Given the description of an element on the screen output the (x, y) to click on. 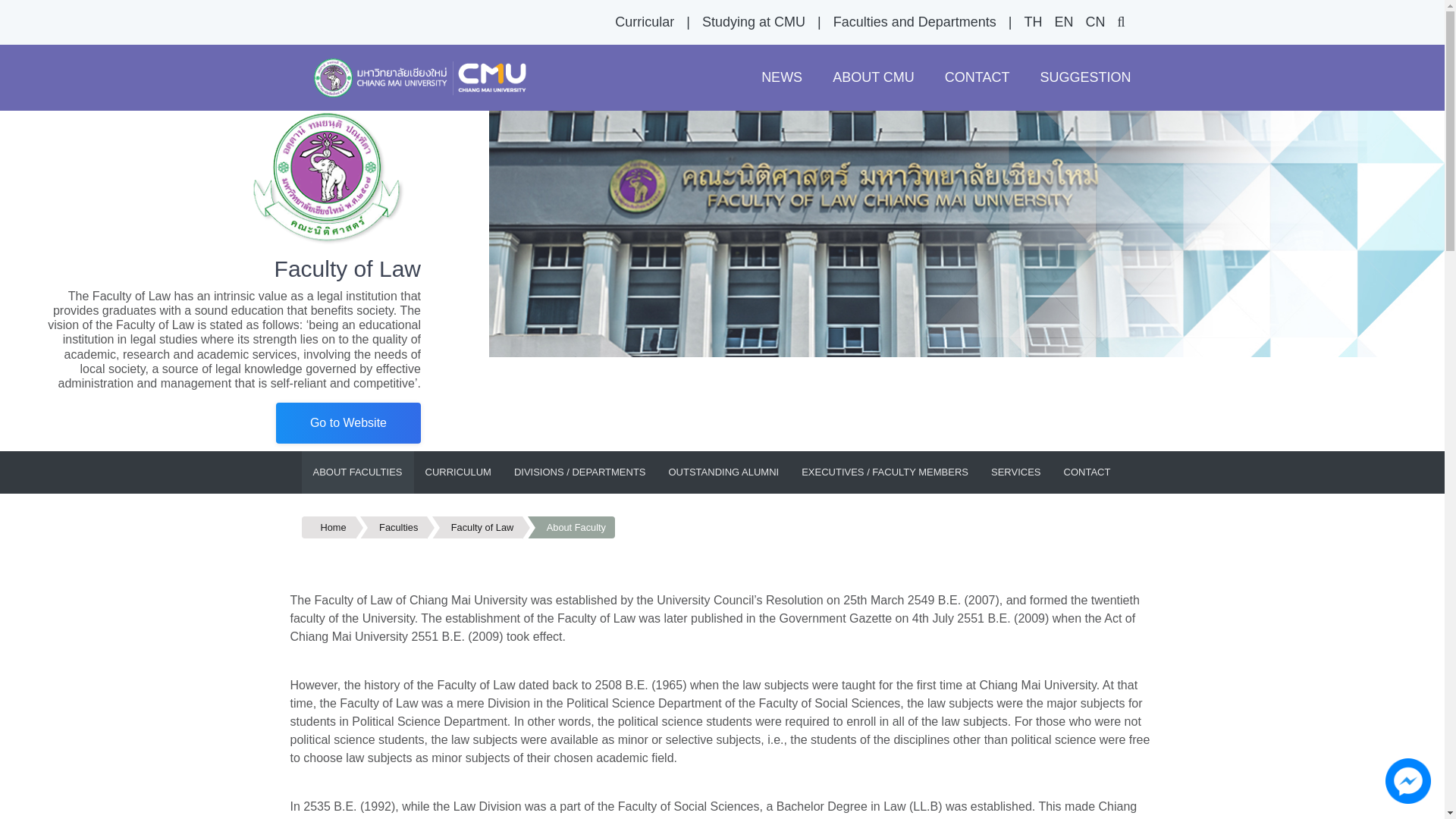
TH (1032, 21)
Studying at CMU (752, 21)
EN (1063, 21)
Faculties and Departments (915, 21)
CN (1094, 21)
Curricular (643, 21)
